Given the description of an element on the screen output the (x, y) to click on. 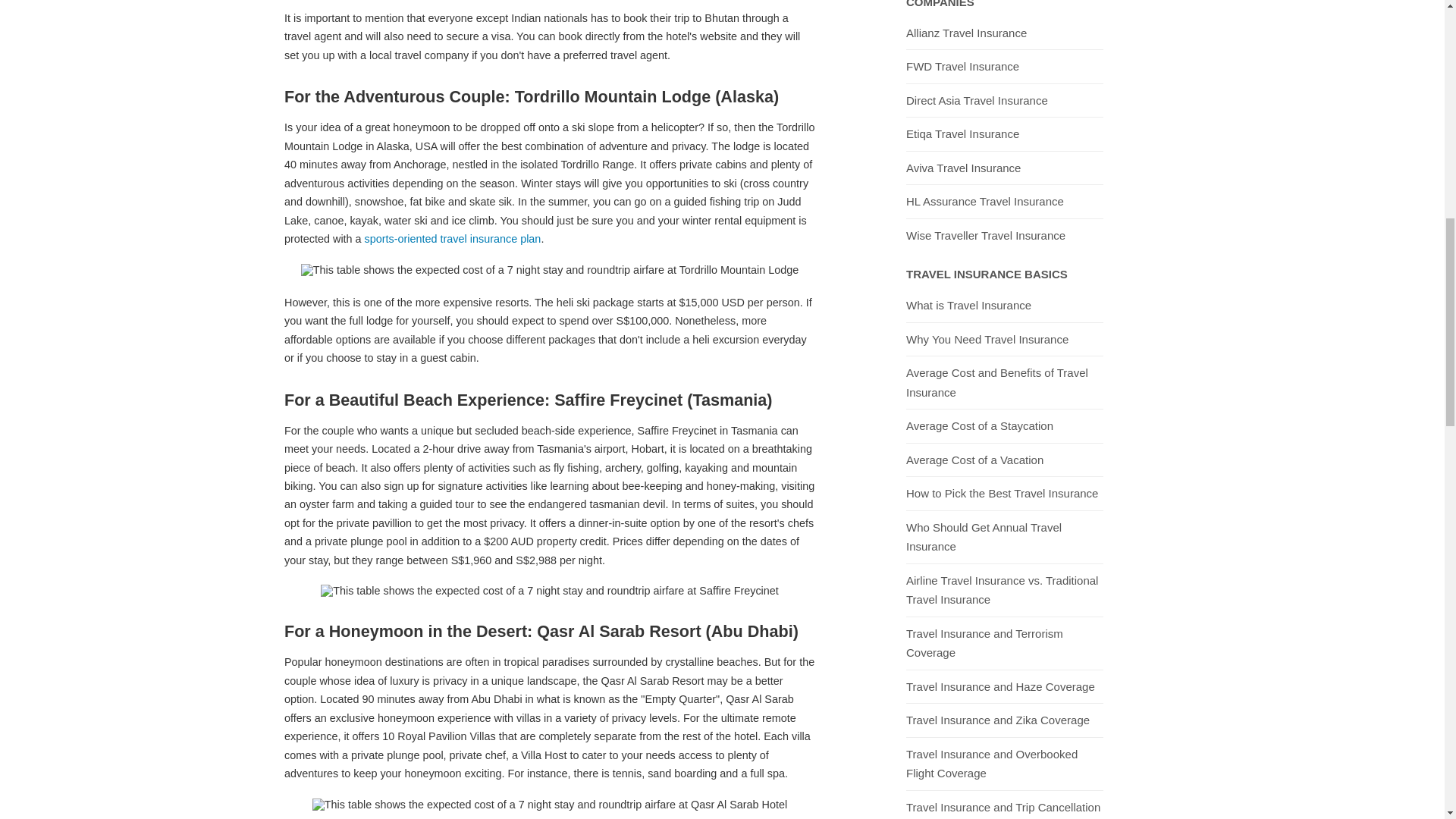
Why You Need Travel Insurance (986, 339)
Aviva Travel Insurance (962, 168)
FWD Travel Insurance (962, 66)
HL Assurance Travel Insurance (984, 201)
What is Travel Insurance (967, 305)
Allianz Travel Insurance (965, 32)
Best Cheap Travel Insurance (453, 238)
Etiqa Travel Insurance (962, 133)
Direct Asia Travel Insurance (976, 100)
Wise Traveller Travel Insurance (985, 234)
